Given the description of an element on the screen output the (x, y) to click on. 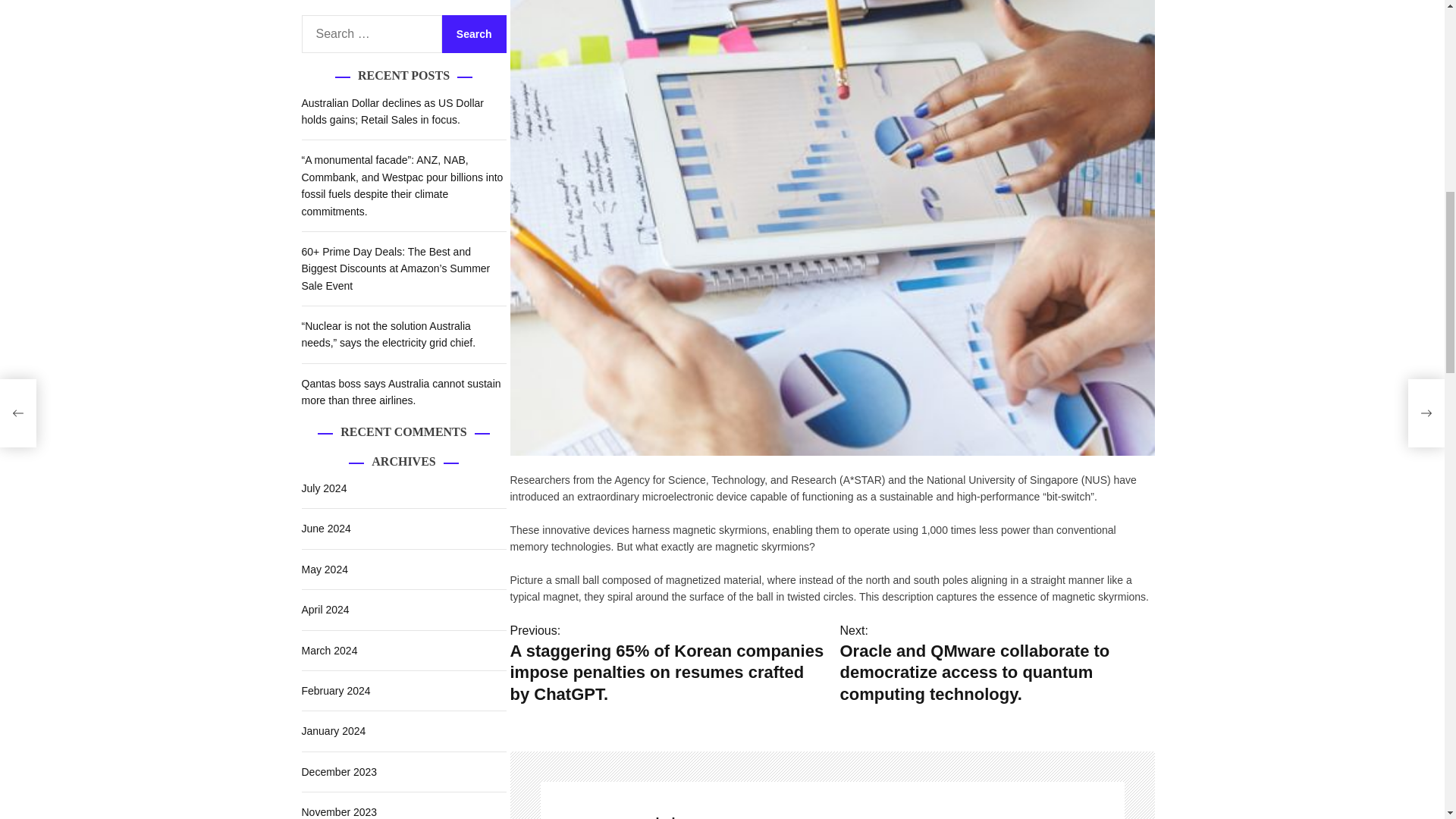
admin (883, 815)
admin (583, 800)
